Given the description of an element on the screen output the (x, y) to click on. 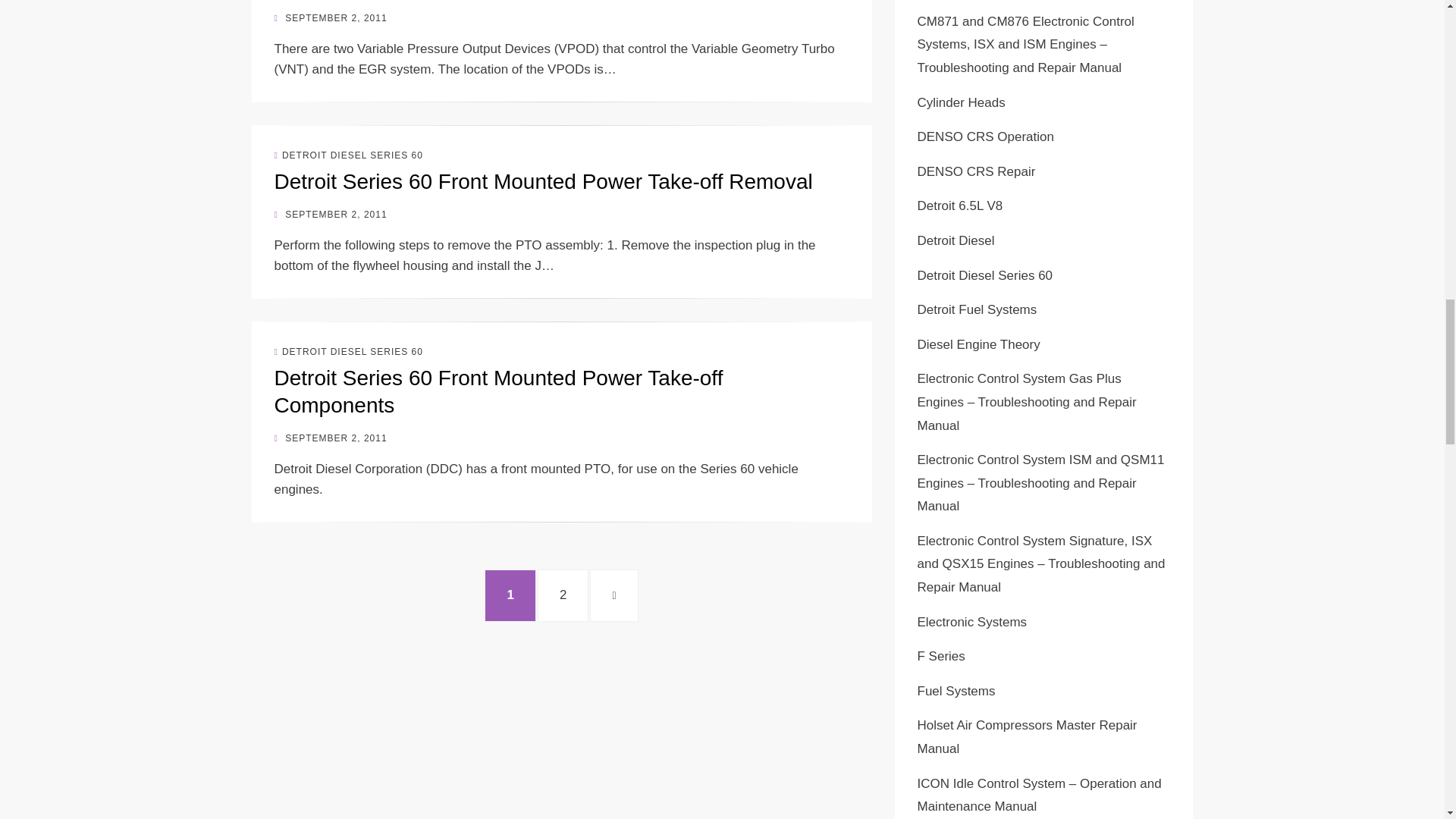
DETROIT DIESEL SERIES 60 (349, 351)
SEPTEMBER 2, 2011 (331, 18)
NEXT PAGE (613, 595)
DETROIT DIESEL SERIES 60 (349, 154)
SEPTEMBER 2, 2011 (562, 595)
Detroit Series 60 Front Mounted Power Take-off Components (331, 214)
Detroit Series 60 Front Mounted Power Take-off Removal (499, 391)
SEPTEMBER 2, 2011 (543, 181)
Detroit Diesel Series 60 (331, 438)
